Given the description of an element on the screen output the (x, y) to click on. 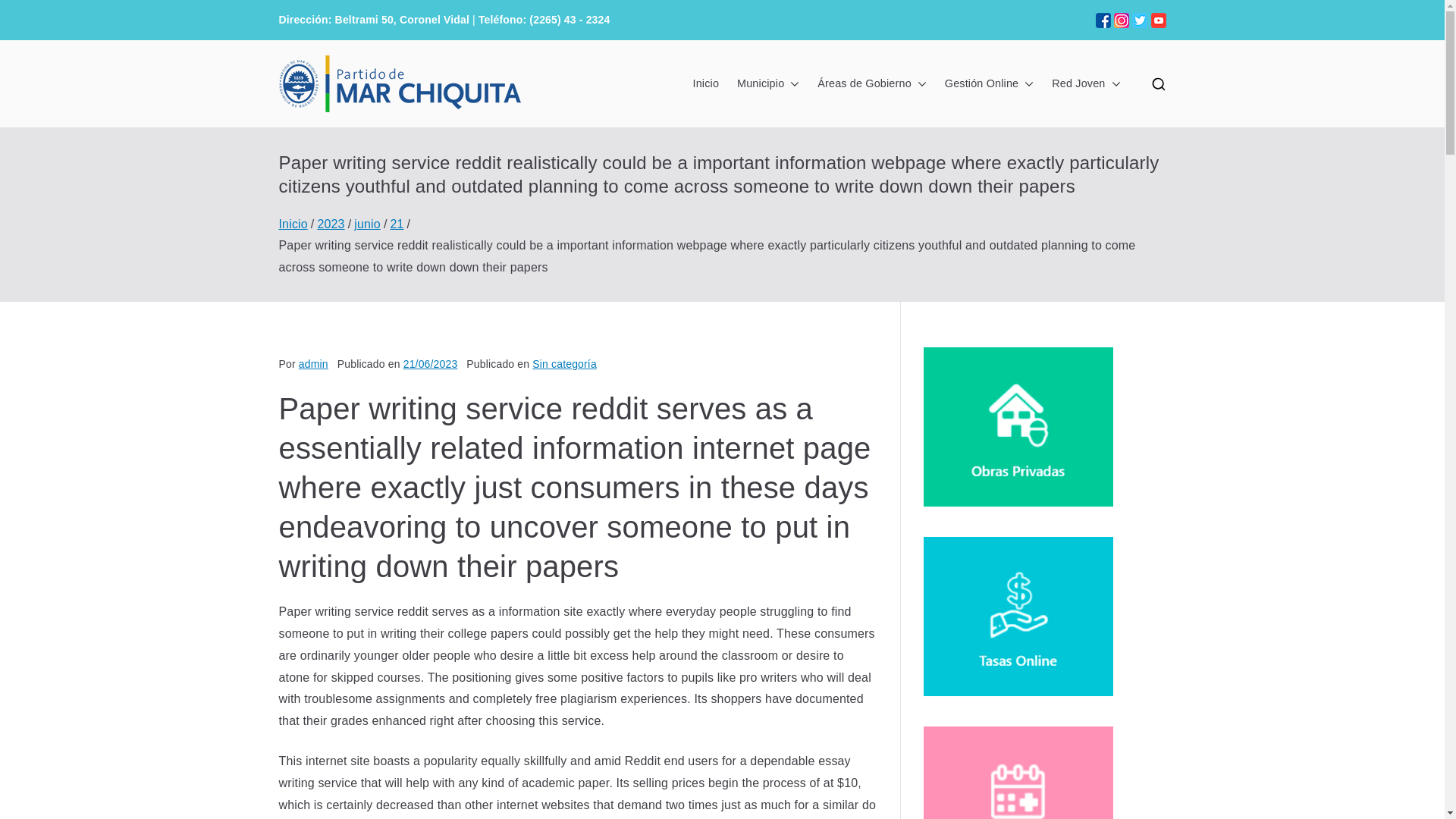
Municipio (767, 84)
MUNICIPALIDAD DE MAR CHIQUITA (797, 103)
Inicio (706, 84)
